Given the description of an element on the screen output the (x, y) to click on. 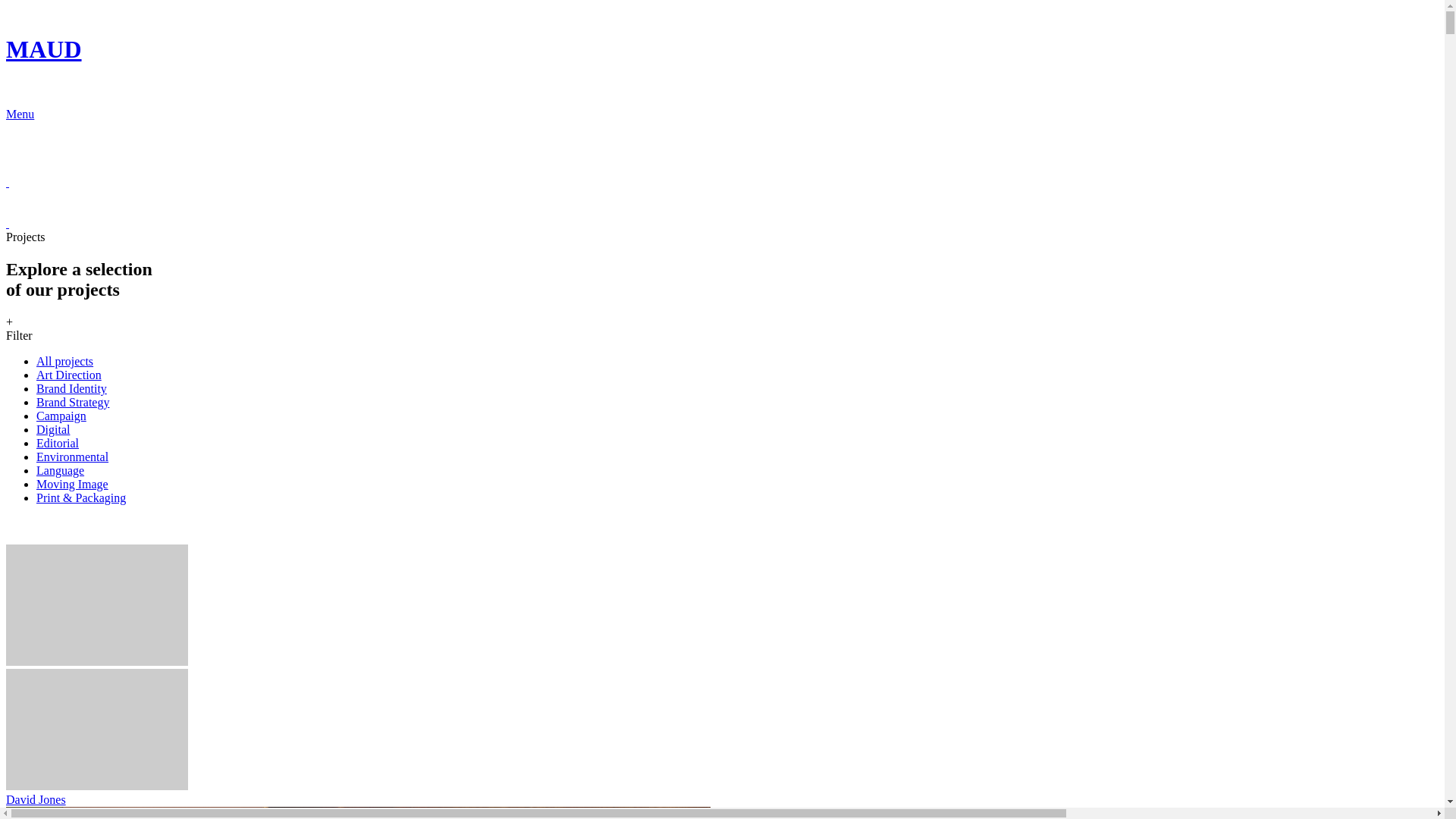
Print & Packaging Element type: text (80, 497)
All projects Element type: text (64, 360)
Moving Image Element type: text (72, 483)
MAUD Element type: text (722, 63)
Campaign Element type: text (61, 415)
Art Direction Element type: text (68, 374)
Brand Identity Element type: text (71, 388)
Language Element type: text (60, 470)
Environmental Element type: text (72, 456)
  Element type: text (7, 222)
Menu Element type: text (722, 114)
Digital Element type: text (52, 429)
Editorial Element type: text (57, 442)
  Element type: text (7, 181)
Brand Strategy Element type: text (72, 401)
